Given the description of an element on the screen output the (x, y) to click on. 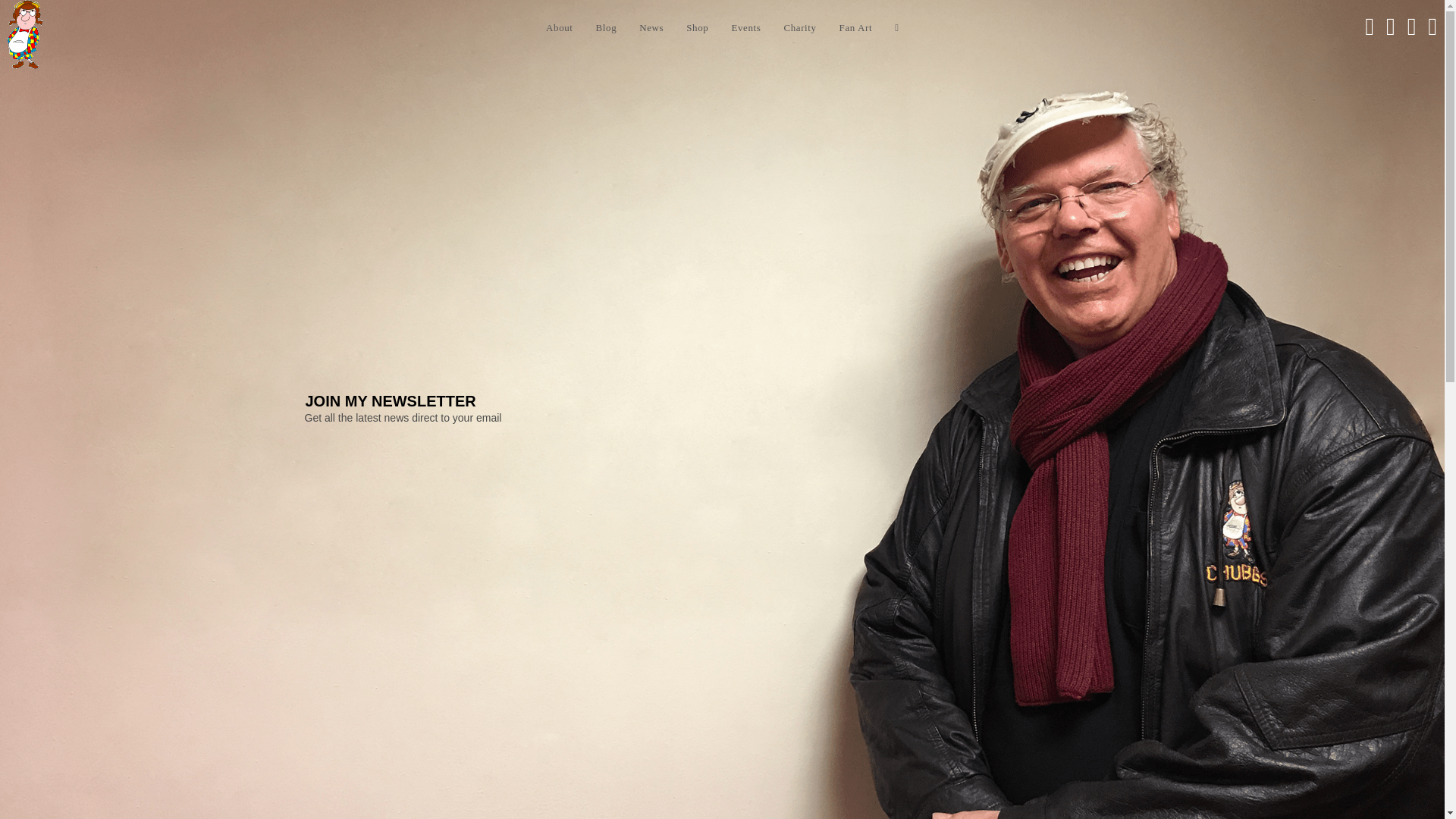
Shop (697, 28)
Events (745, 28)
About (559, 28)
Charity (799, 28)
News (651, 28)
Fan Art (855, 28)
Blog (606, 28)
